Given the description of an element on the screen output the (x, y) to click on. 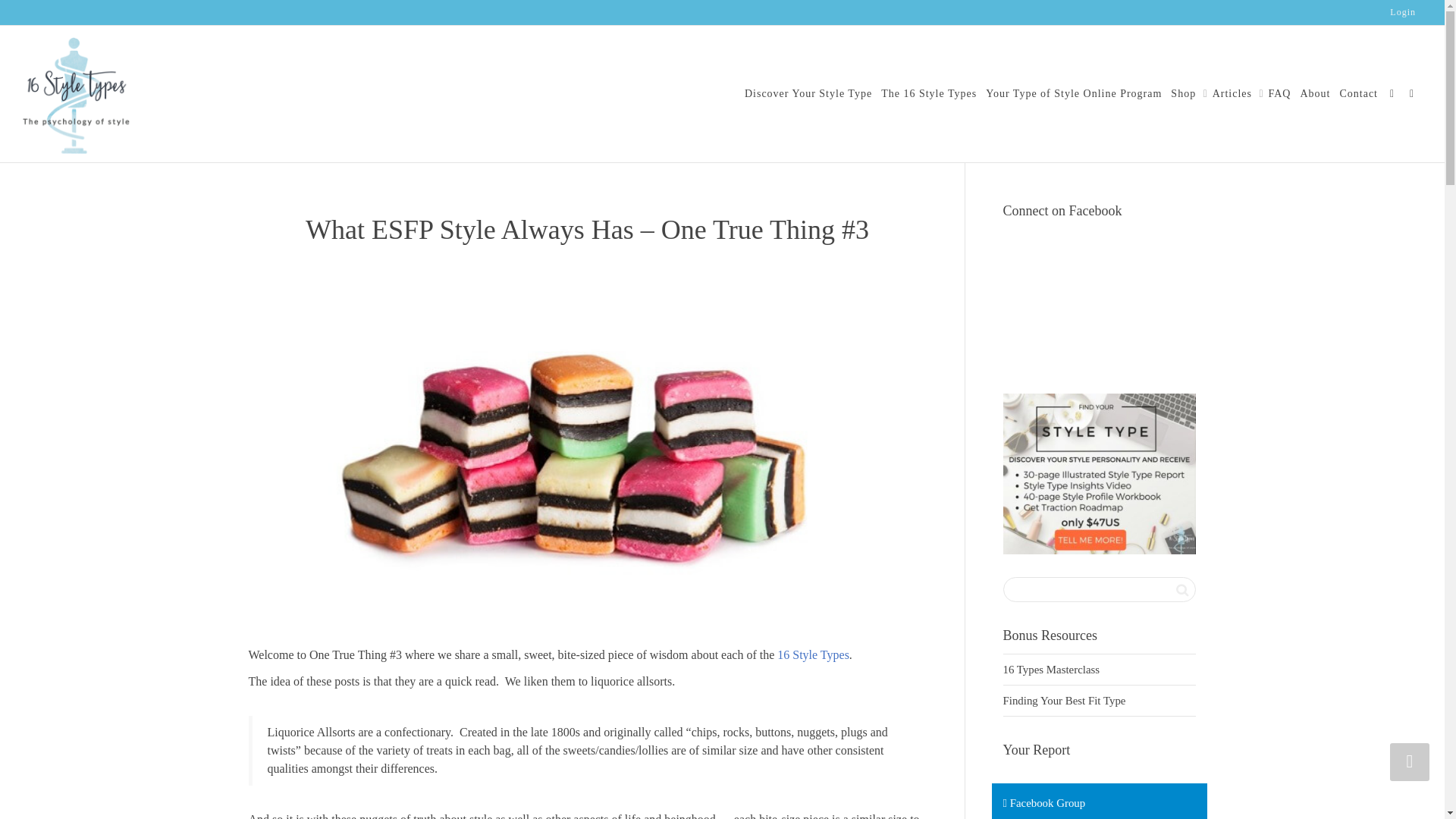
Search (1181, 589)
Discover Your Style Type (808, 93)
Your Type of Style Online Program (1073, 93)
Login (1403, 12)
Login (1403, 12)
Search (1181, 589)
Discover Your Style Type (808, 93)
Your Type of Style Online Program (1073, 93)
